Given the description of an element on the screen output the (x, y) to click on. 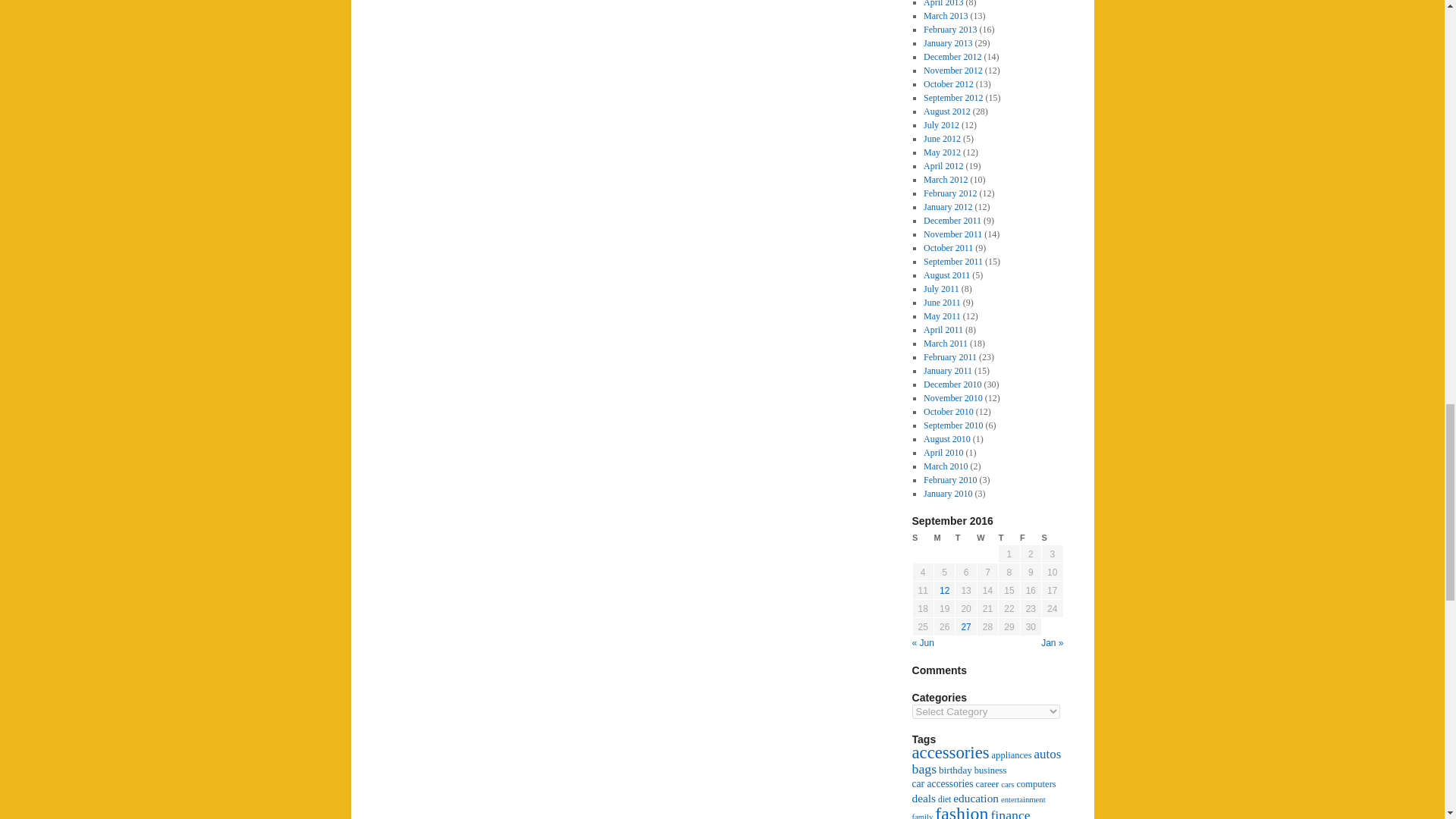
Sunday (922, 537)
Friday (1030, 537)
Thursday (1009, 537)
Saturday (1052, 537)
Wednesday (986, 537)
Tuesday (965, 537)
Monday (944, 537)
